Given the description of an element on the screen output the (x, y) to click on. 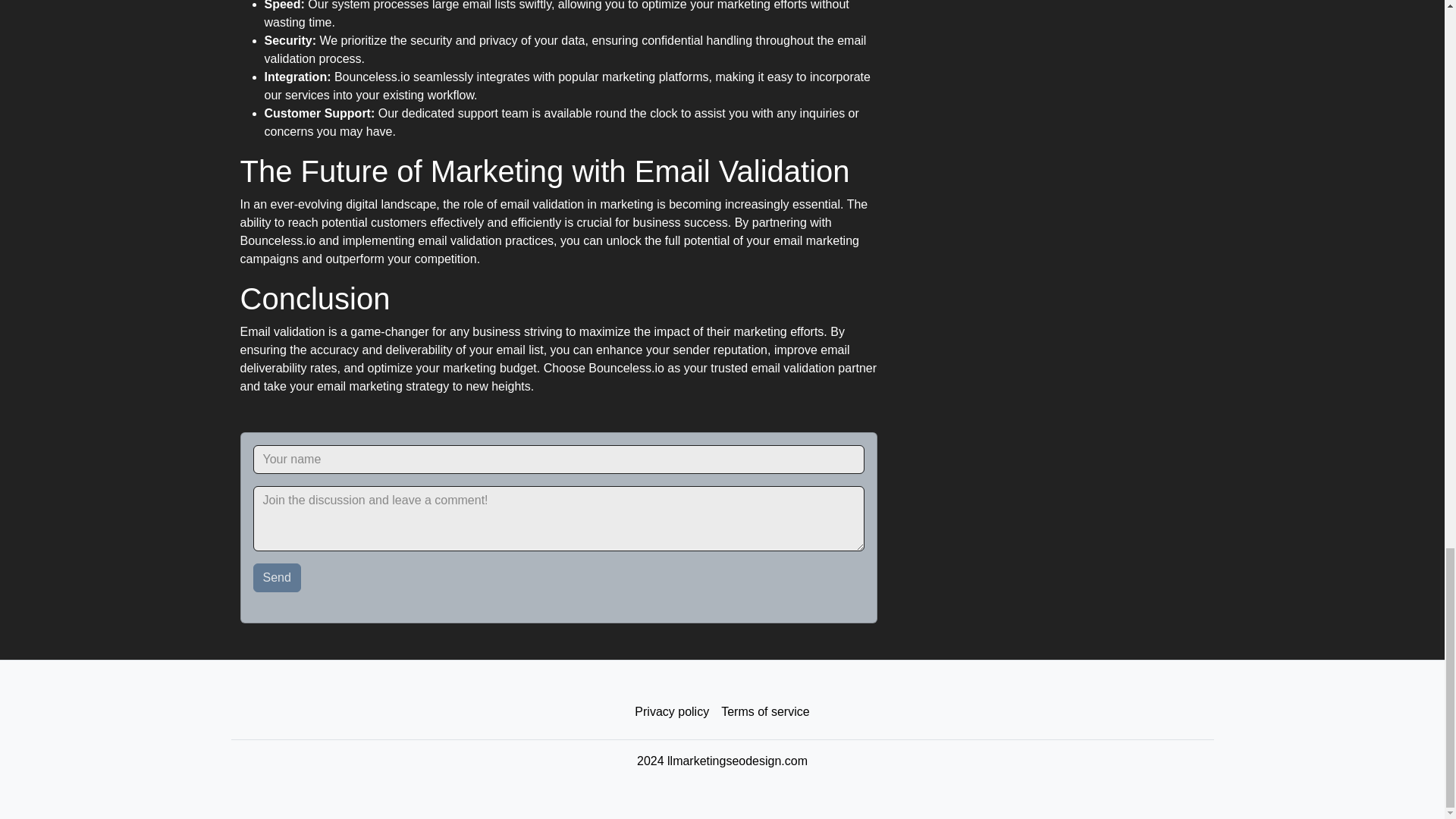
Privacy policy (671, 711)
Terms of service (764, 711)
Send (277, 577)
Send (277, 577)
